Given the description of an element on the screen output the (x, y) to click on. 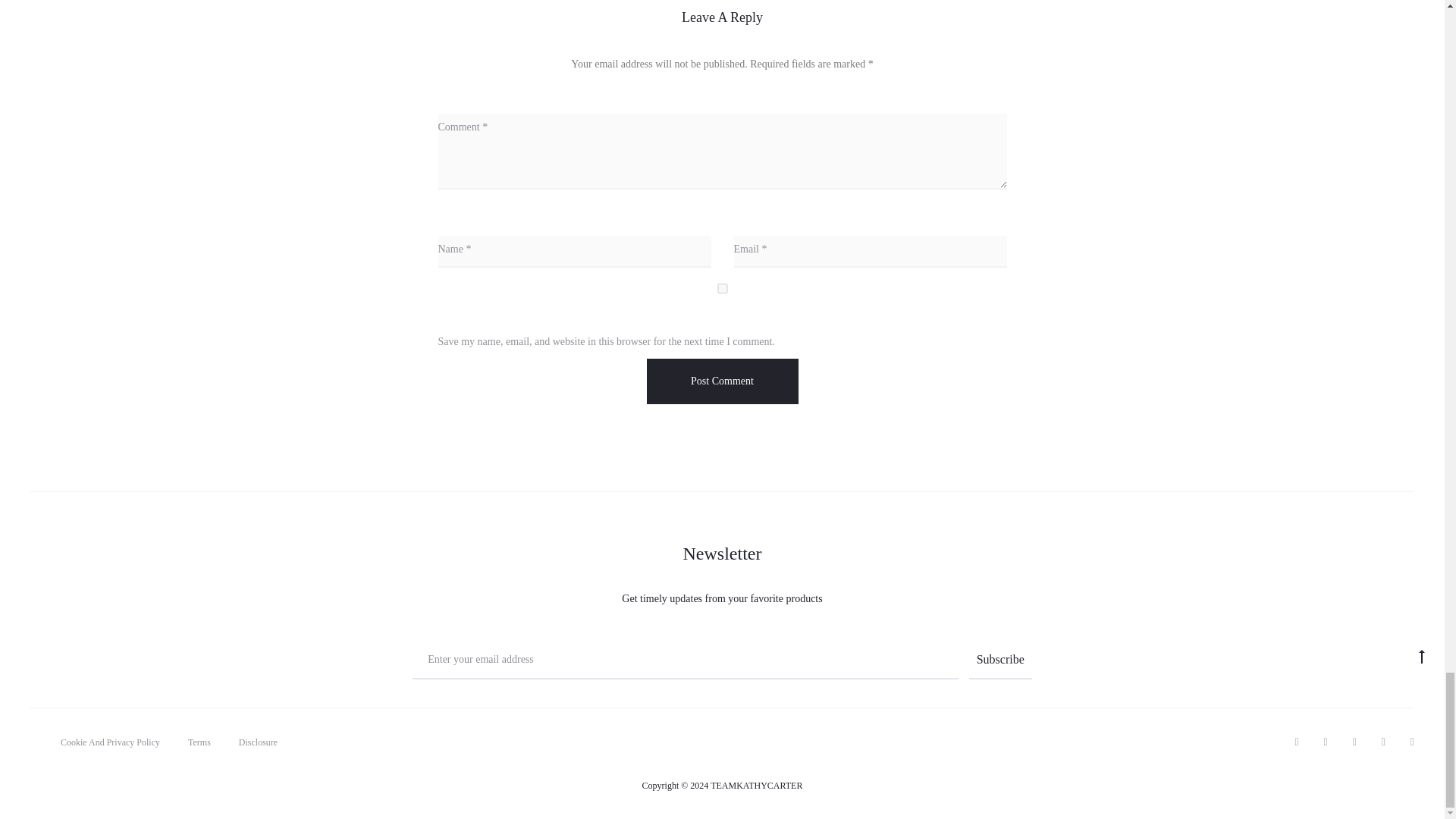
Subscribe (1000, 660)
yes (722, 288)
Post Comment (721, 381)
